Given the description of an element on the screen output the (x, y) to click on. 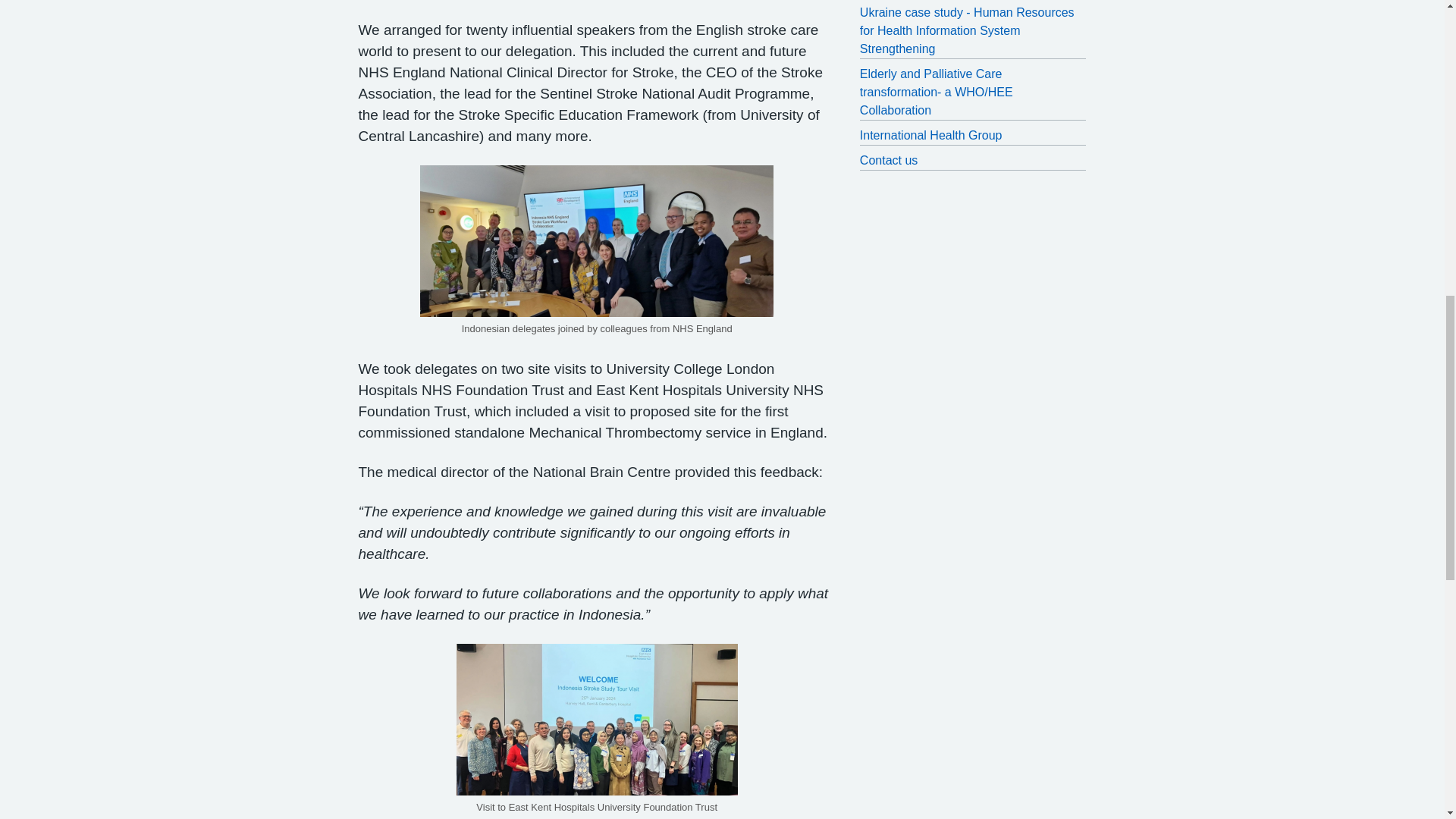
Contact us (973, 160)
International Health Group (973, 135)
